Given the description of an element on the screen output the (x, y) to click on. 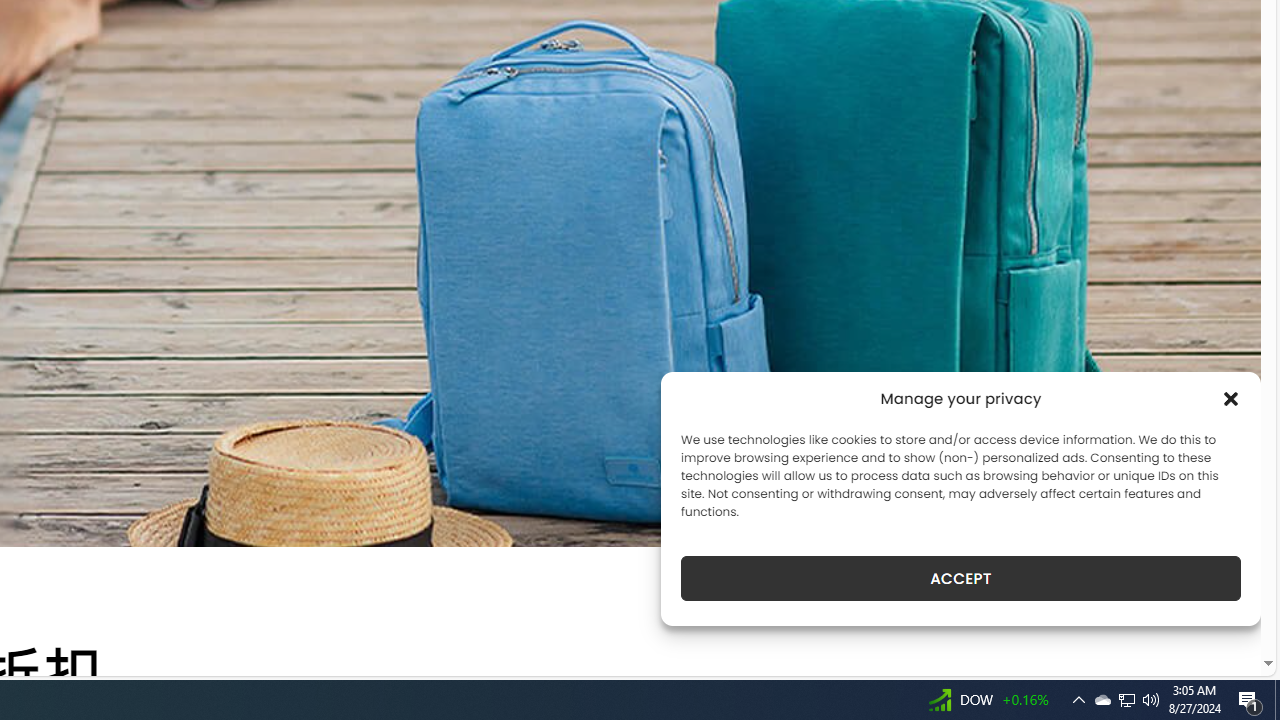
Class: cmplz-close (1231, 398)
ACCEPT (960, 578)
